Given the description of an element on the screen output the (x, y) to click on. 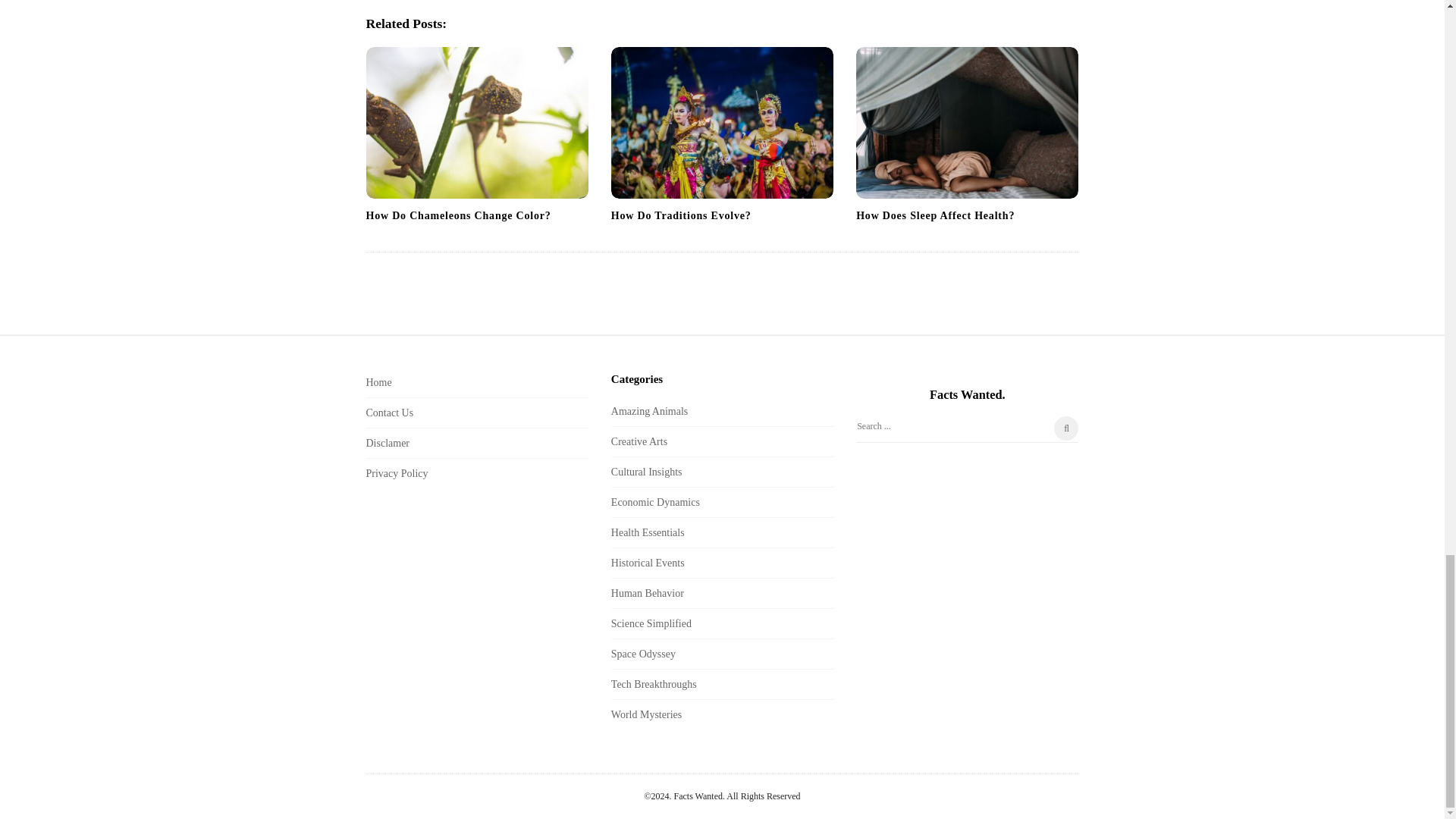
Space Odyssey (643, 654)
How Do Chameleons Change Color? (457, 215)
How Do Traditions Evolve? (681, 215)
Search for: (967, 429)
Privacy Policy (396, 473)
How Does Sleep Affect Health? (967, 122)
Home (378, 382)
How Do Traditions Evolve? (721, 122)
Health Essentials (647, 532)
How Do Chameleons Change Color? (457, 215)
How Does Sleep Affect Health? (935, 215)
How Does Sleep Affect Health? (935, 215)
Economic Dynamics (655, 501)
Science Simplified (651, 623)
Contact Us (389, 412)
